Given the description of an element on the screen output the (x, y) to click on. 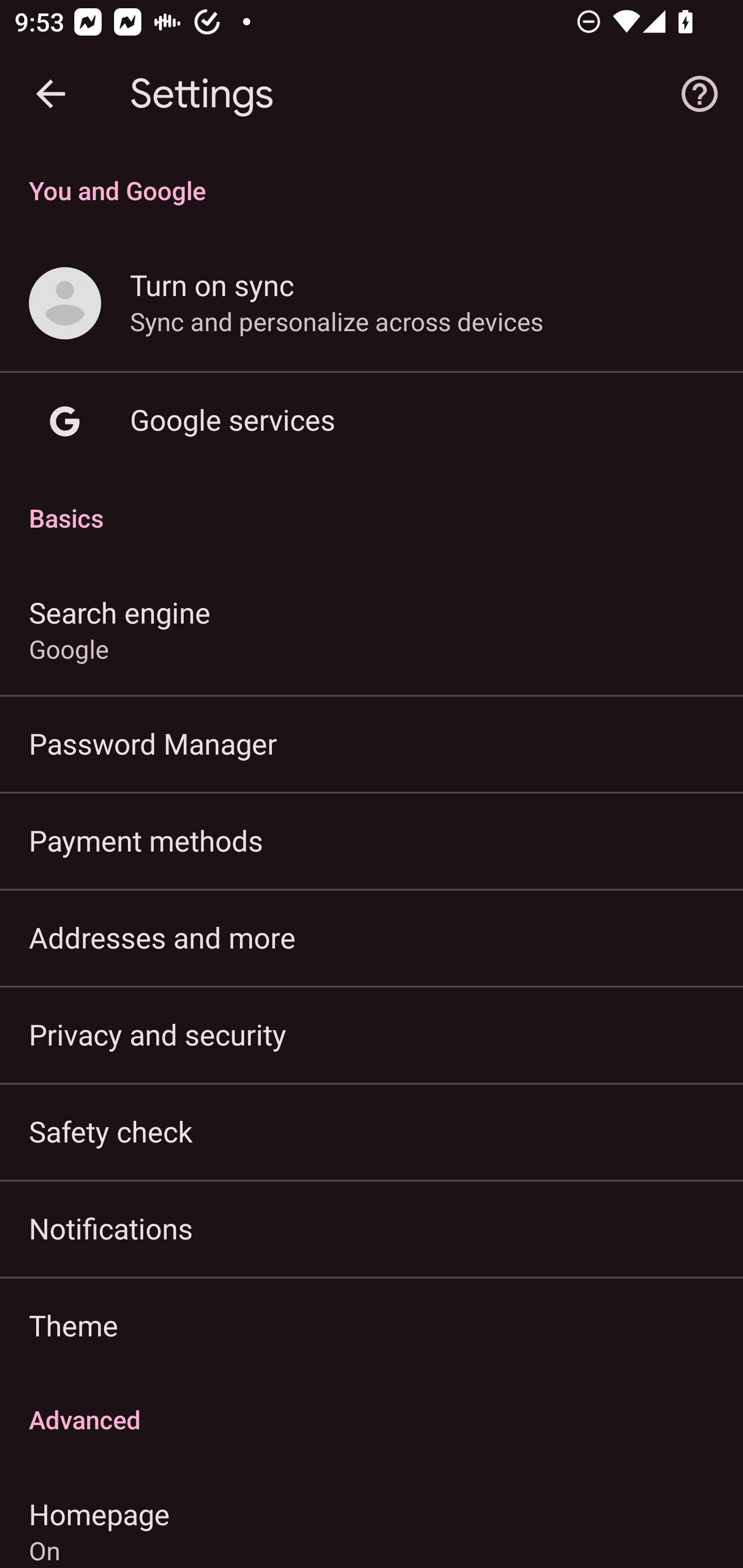
Navigate up (50, 93)
Help & feedback (699, 93)
Turn on sync Sync and personalize across devices (371, 303)
Google services (371, 421)
Search engine Google (371, 629)
Password Manager (371, 742)
Payment methods (371, 840)
Addresses and more (371, 937)
Privacy and security (371, 1033)
Safety check (371, 1130)
Notifications (371, 1227)
Theme (371, 1324)
Homepage On (371, 1517)
